Given the description of an element on the screen output the (x, y) to click on. 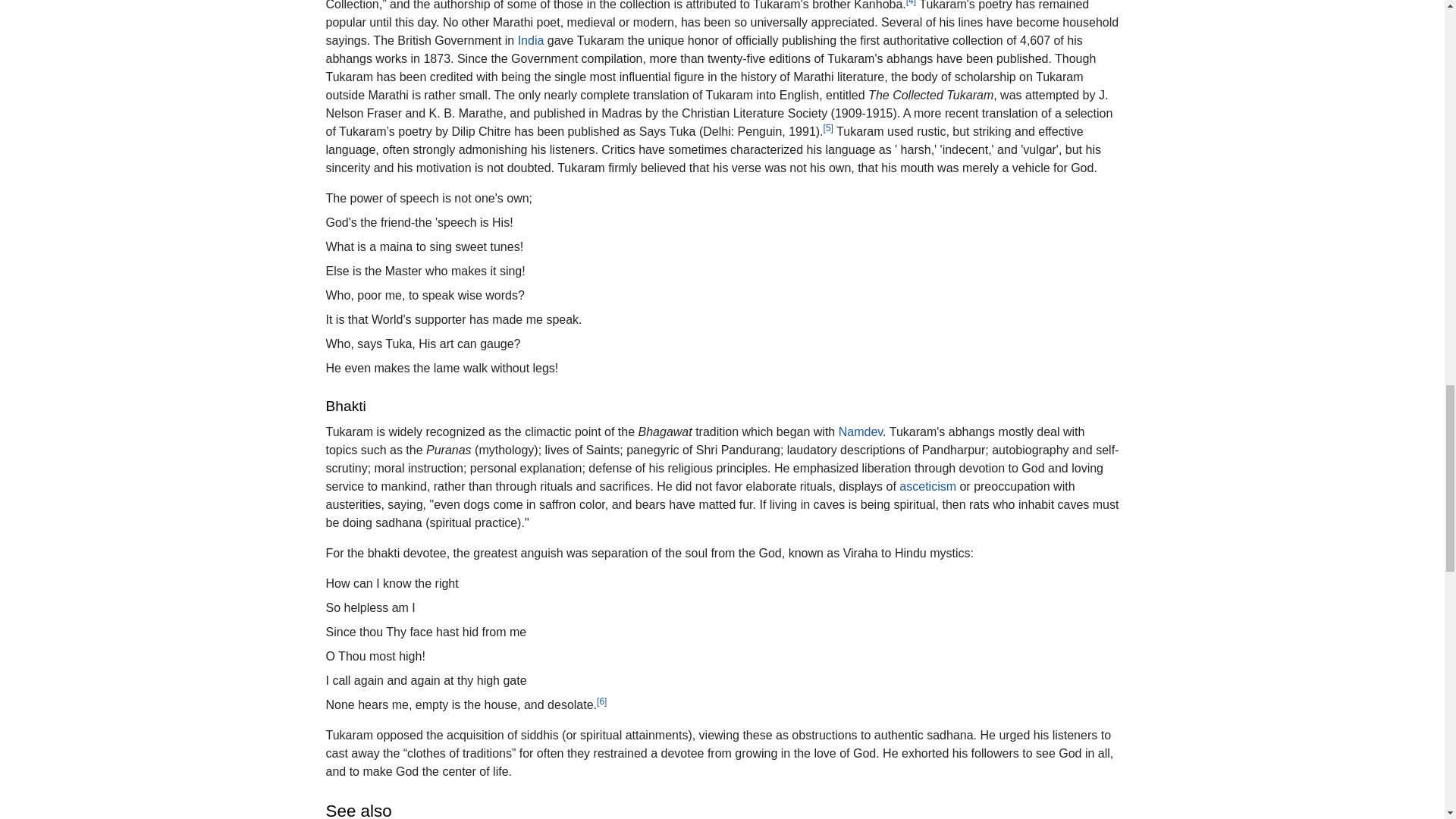
Namdev (860, 431)
Namdev (860, 431)
India (531, 40)
India (531, 40)
